Given the description of an element on the screen output the (x, y) to click on. 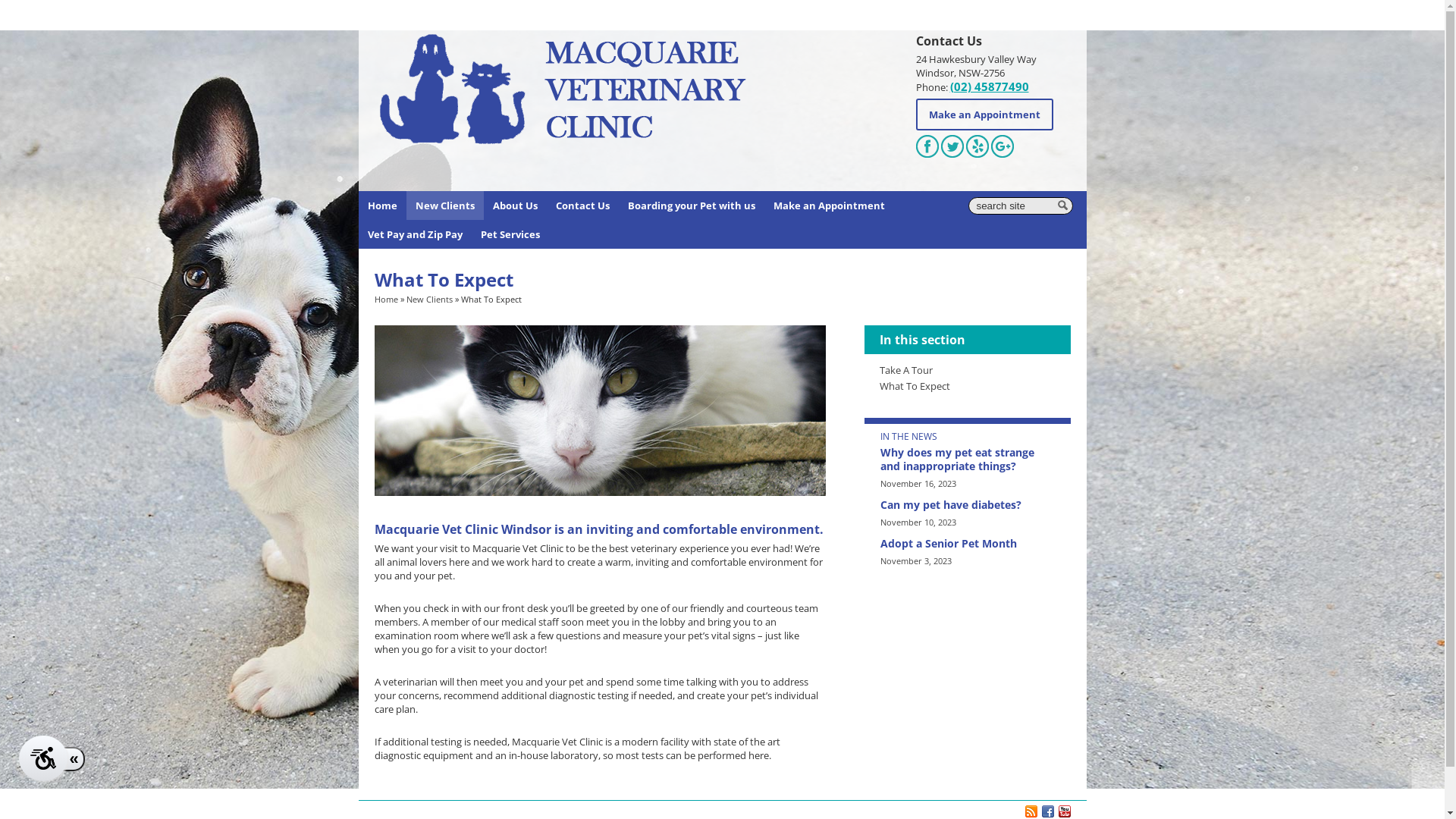
About Us Element type: text (514, 205)
Contact Us Element type: text (949, 40)
New Clients Element type: text (444, 205)
Boarding your Pet with us Element type: text (691, 205)
Home Element type: text (381, 205)
Search Element type: text (1072, 196)
(02) 45877490 Element type: text (988, 86)
Vet Pay and Zip Pay Element type: text (413, 233)
Veterinarians Windsor| Macquarie Vet Clinic Element type: text (562, 89)
RSS Element type: text (1031, 811)
Pet Services Element type: text (510, 233)
Flickr Element type: text (1064, 811)
New Clients Element type: text (429, 298)
Take A Tour Element type: text (905, 369)
Contact Us Element type: text (582, 205)
Home Element type: text (386, 298)
Switch to accessible version of site Element type: hover (42, 758)
Facebook Element type: text (1047, 811)
Make an Appointment Element type: text (984, 114)
Why does my pet eat strange and inappropriate things? Element type: text (956, 459)
What To Expect Element type: text (914, 385)
Make an Appointment Element type: text (829, 205)
Adopt a Senior Pet Month Element type: text (947, 543)
Can my pet have diabetes? Element type: text (949, 504)
